Given the description of an element on the screen output the (x, y) to click on. 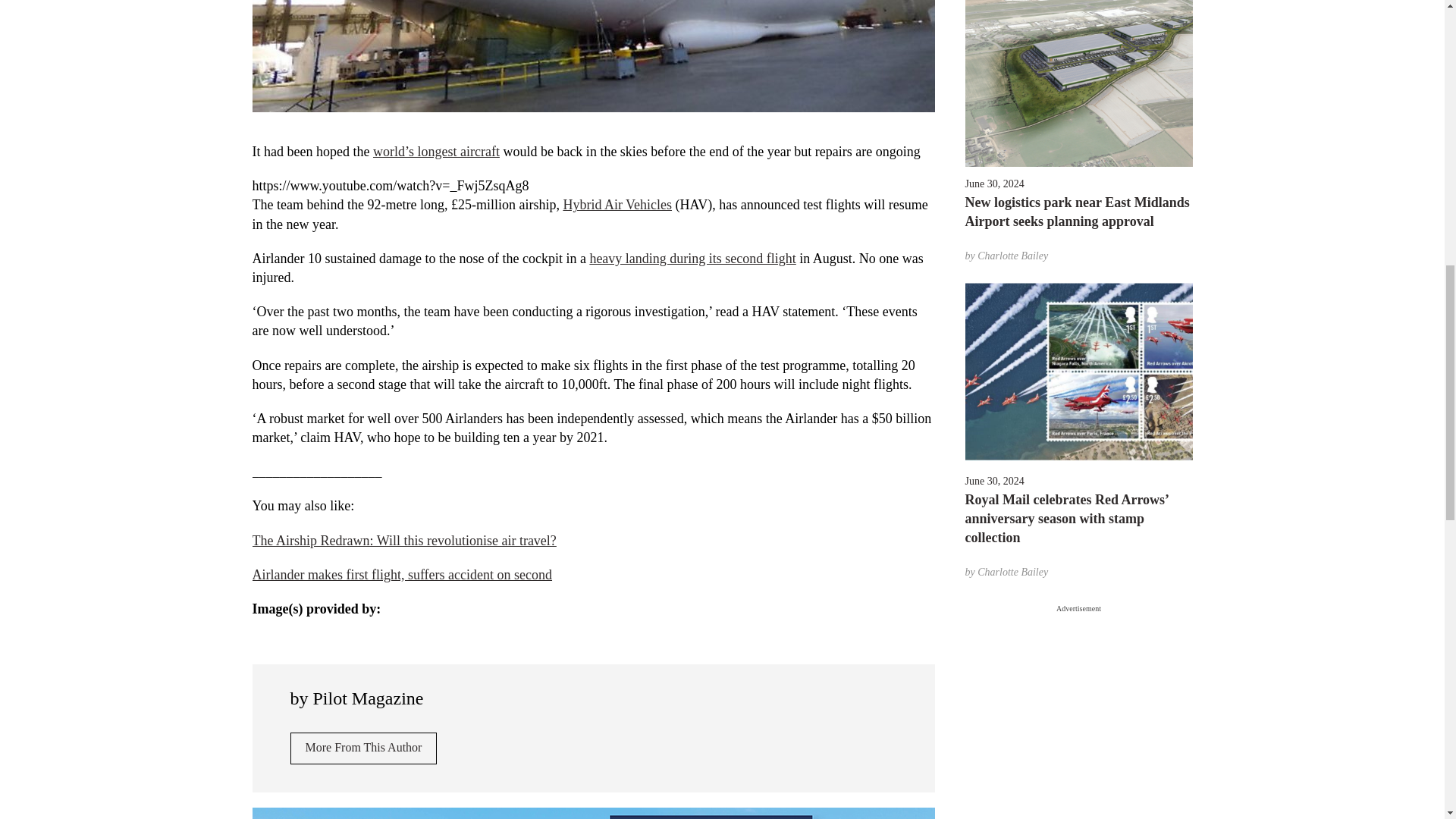
The Airship Redrawn: Will this revolutionise air travel? (403, 540)
Hybrid Air Vehicles (616, 204)
More From This Author (362, 748)
Airlander makes first flight, suffers accident on second (401, 574)
heavy landing during its second flight (691, 258)
